Given the description of an element on the screen output the (x, y) to click on. 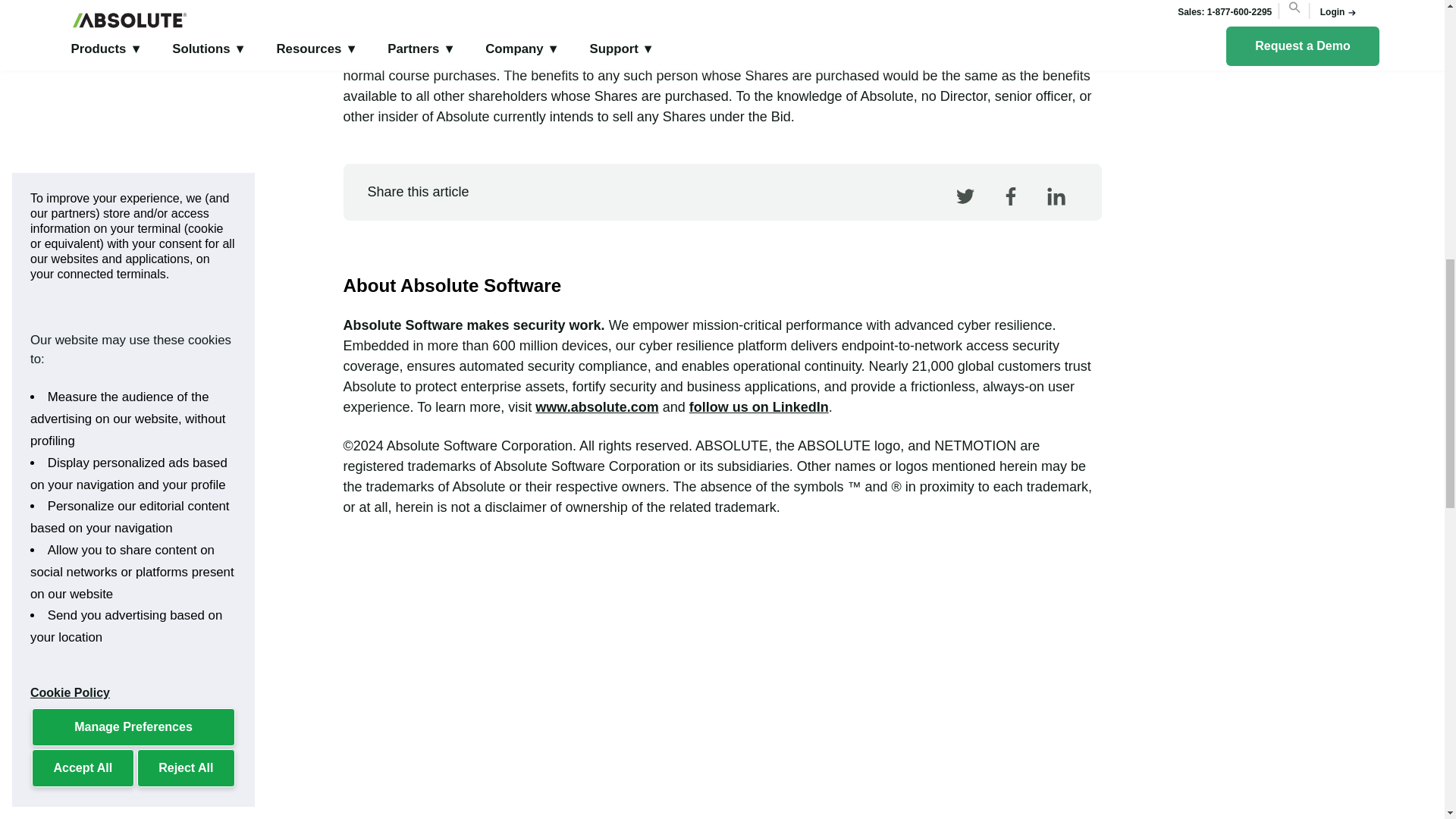
Share this on Twitter (962, 213)
Share this on Facebook (1007, 213)
Share this on LinkedIn (1053, 213)
